Given the description of an element on the screen output the (x, y) to click on. 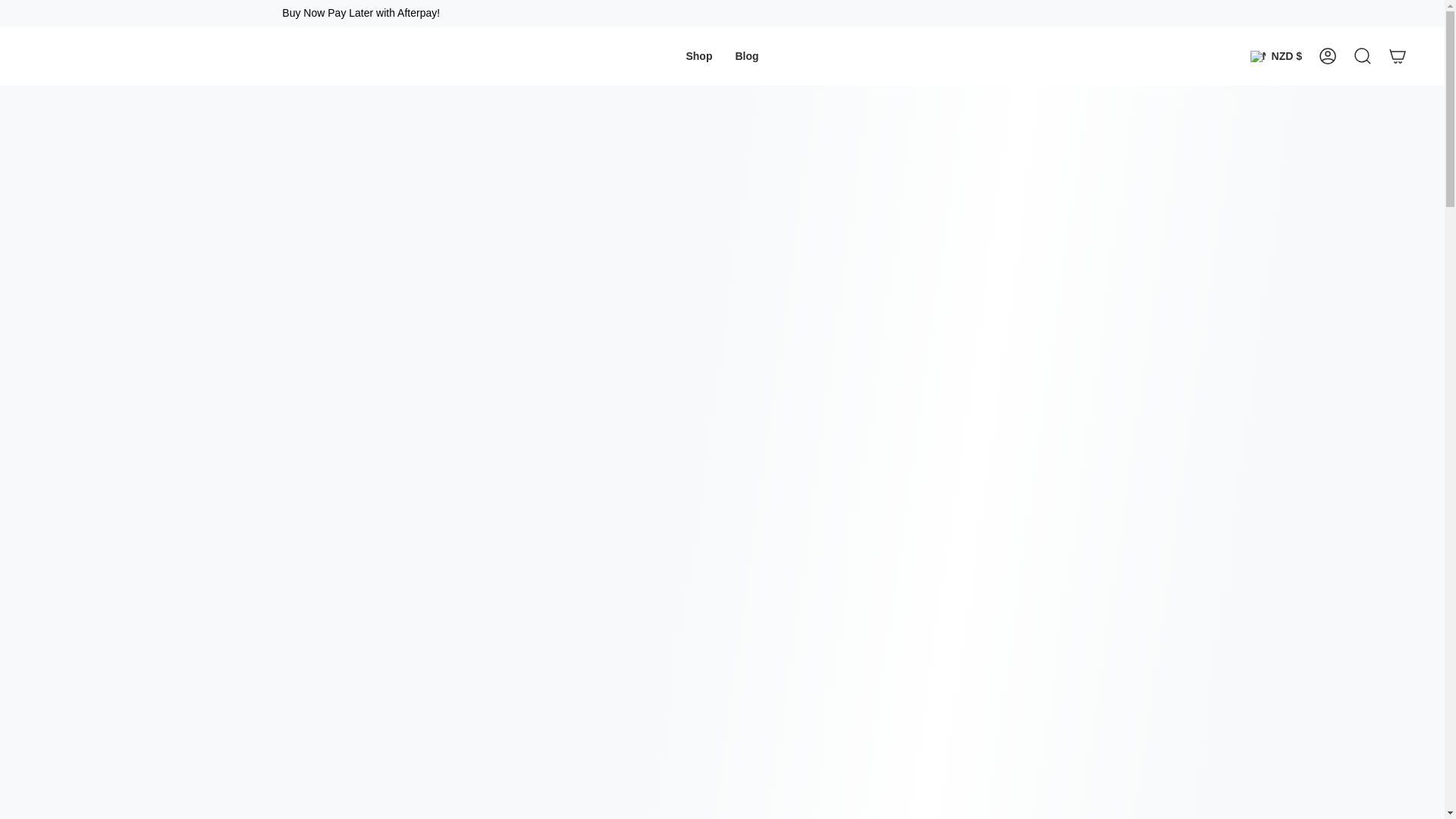
Search (1362, 55)
Cart (1397, 55)
My Account (1327, 55)
